Given the description of an element on the screen output the (x, y) to click on. 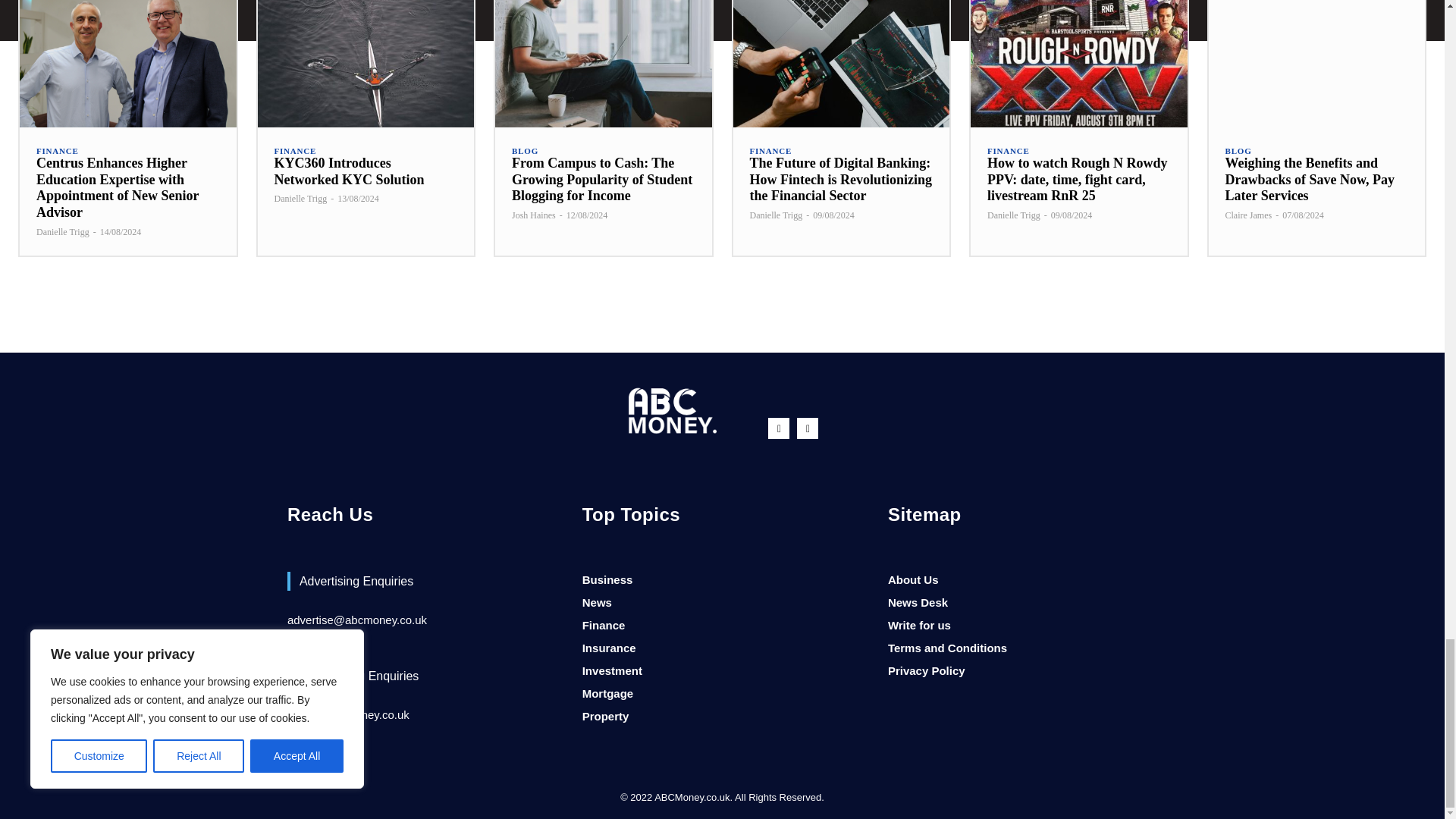
KYC360 Introduces Networked KYC Solution (365, 63)
KYC360 Introduces Networked KYC Solution (350, 171)
